Given the description of an element on the screen output the (x, y) to click on. 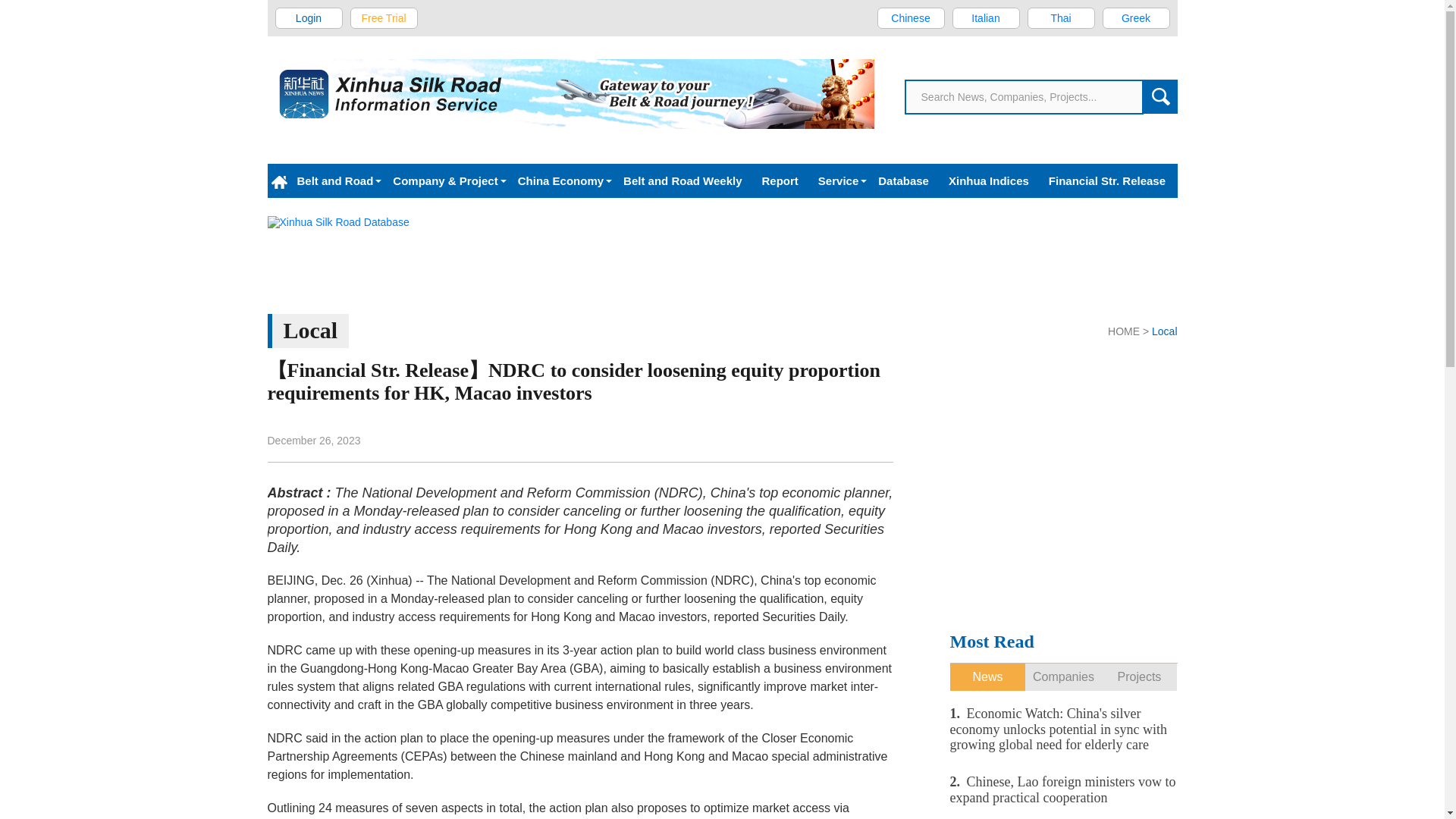
Report (780, 180)
Service (837, 180)
Xinhua Silk Road Database (721, 255)
Thai (1060, 17)
Italian (986, 17)
Belt and Road (334, 180)
Free Trial (383, 17)
China Economy (560, 180)
one belt one road Free Trial (383, 17)
Chinese (909, 17)
one belt one road login (309, 17)
Belt and Road Weekly (681, 180)
Login (309, 17)
